Given the description of an element on the screen output the (x, y) to click on. 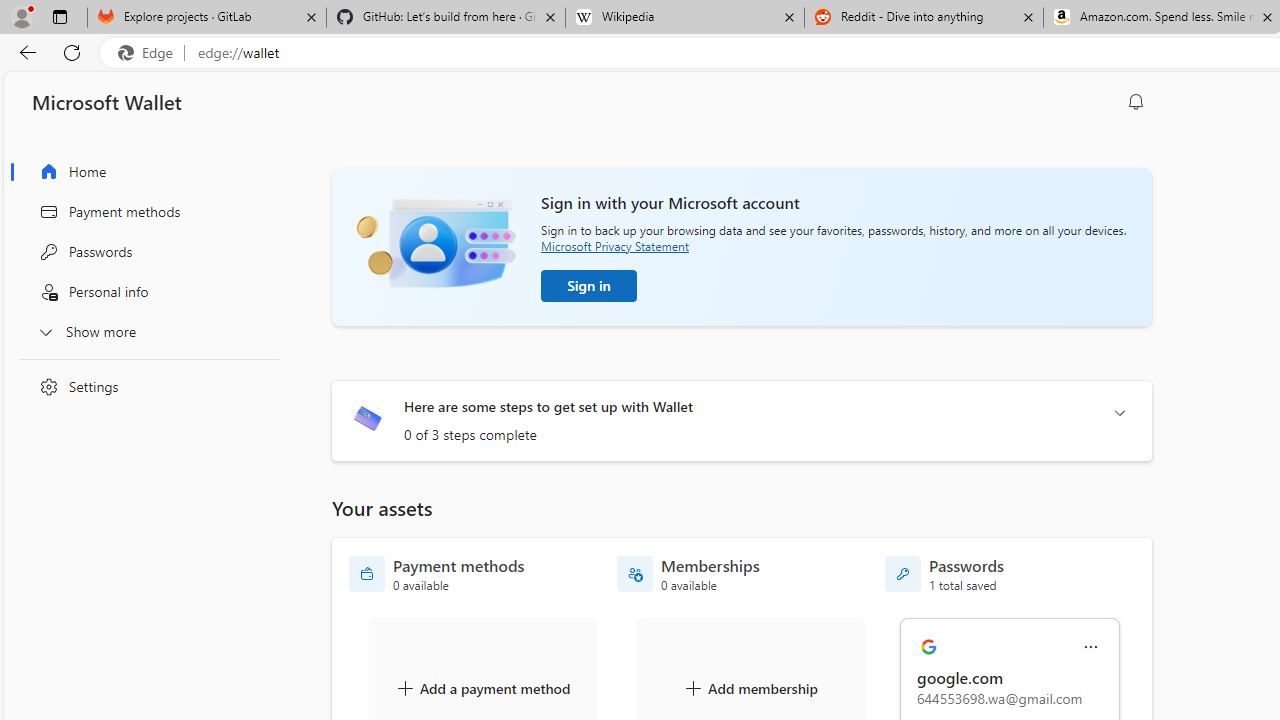
Passwords (143, 252)
Payment methods (143, 211)
Personal info (143, 292)
Home (143, 172)
Memberships - 0 available (688, 573)
Wikipedia (684, 17)
Payment methods - 0 available (437, 573)
Notification (1136, 101)
Edge (150, 53)
